Given the description of an element on the screen output the (x, y) to click on. 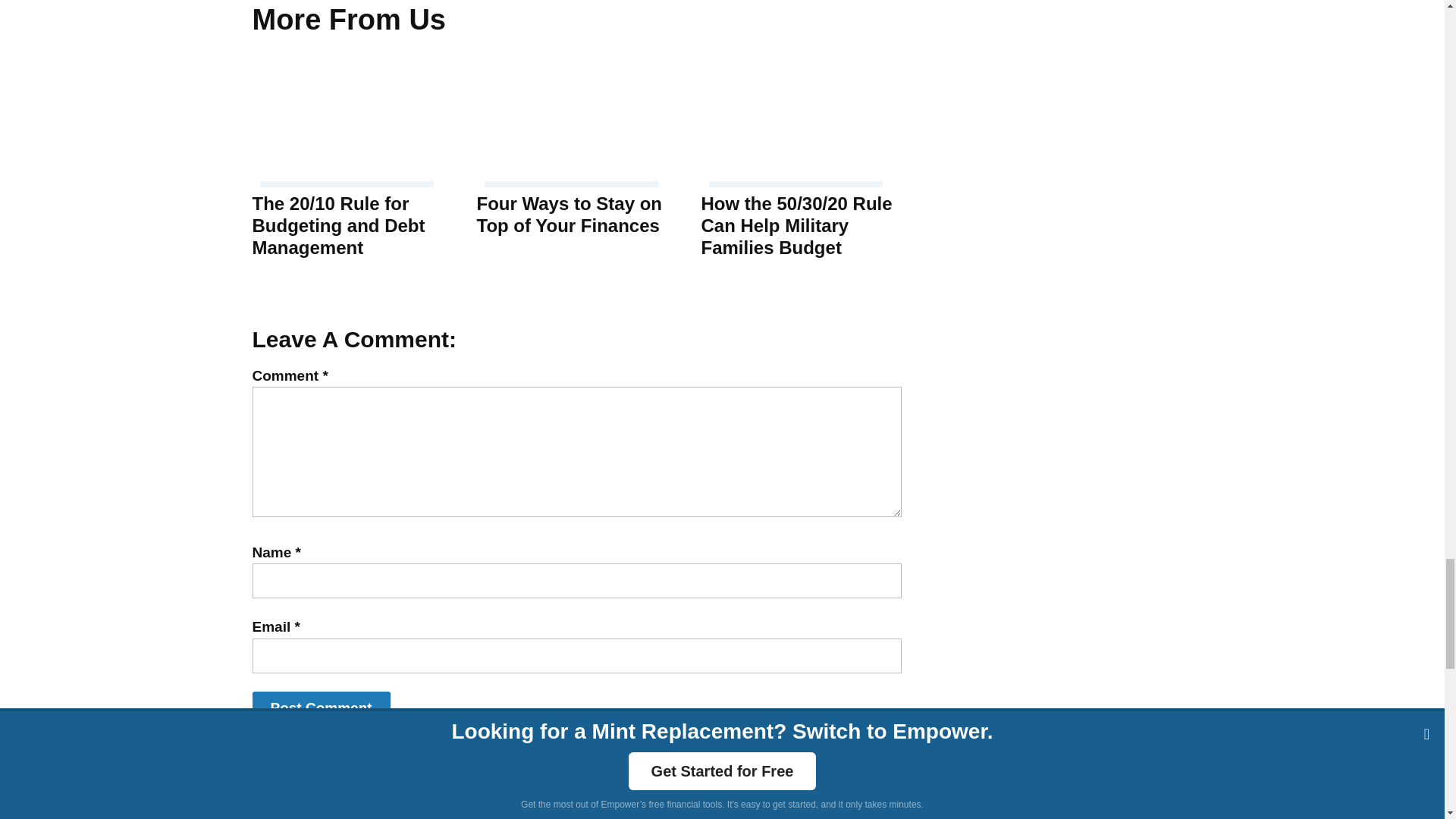
Post Comment (320, 708)
